Given the description of an element on the screen output the (x, y) to click on. 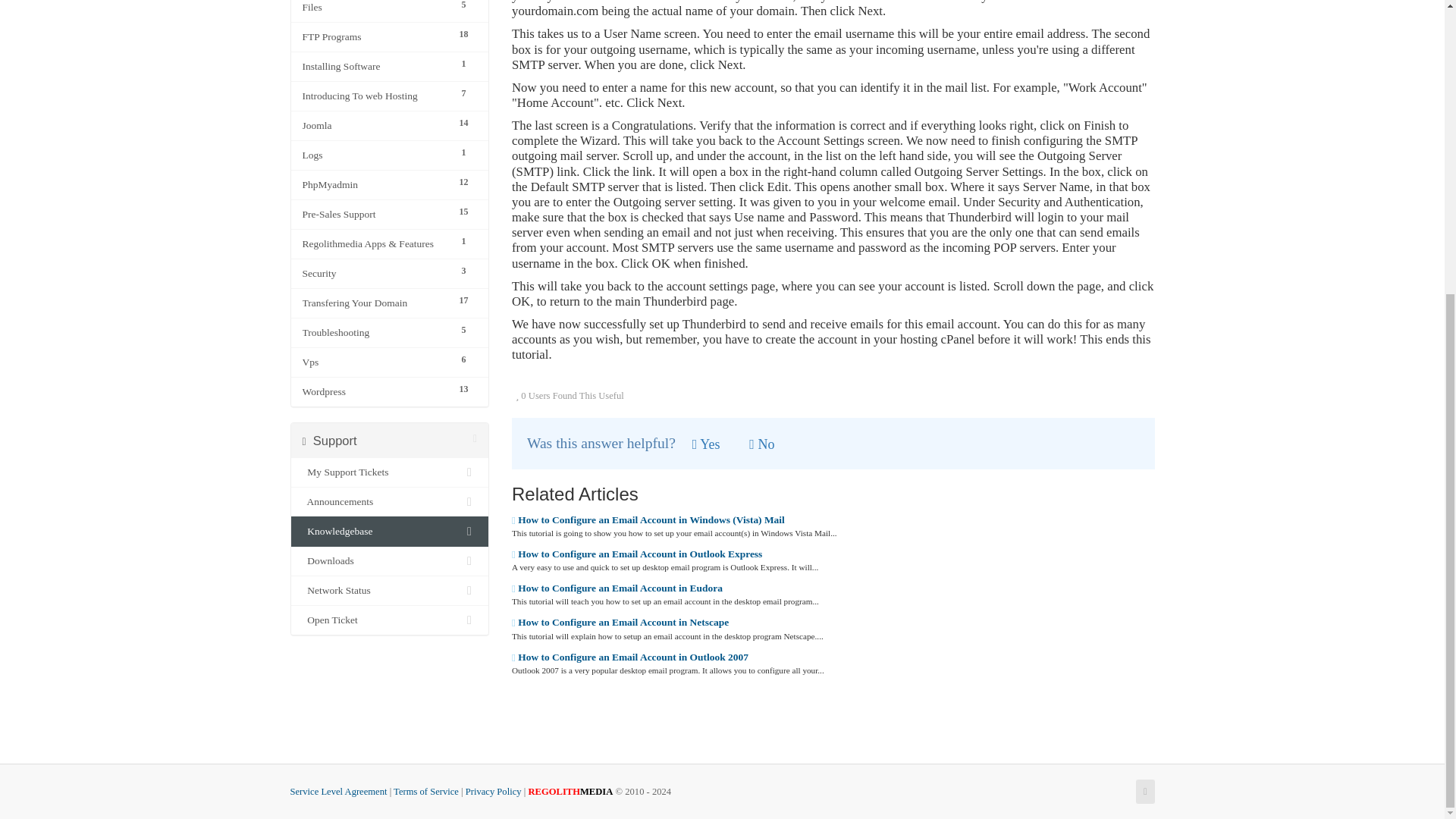
Files (375, 8)
FTP Programs (375, 36)
Introducing To web Hosting (375, 95)
Installing Software (375, 66)
